Given the description of an element on the screen output the (x, y) to click on. 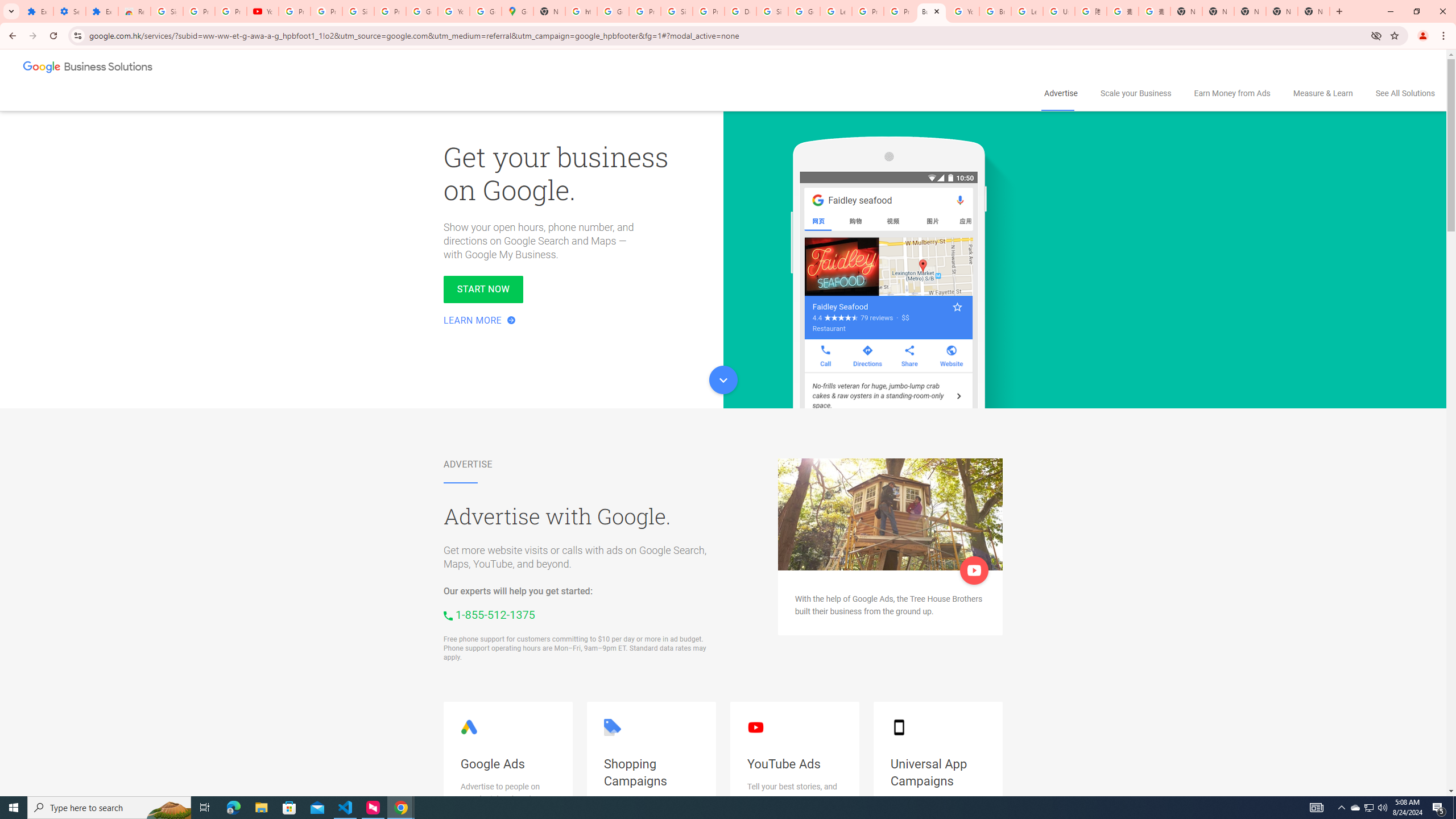
YouTube (963, 11)
Call us (488, 614)
YouTube logo (755, 727)
New Tab (1313, 11)
Google Maps (517, 11)
https://scholar.google.com/ (581, 11)
